Given the description of an element on the screen output the (x, y) to click on. 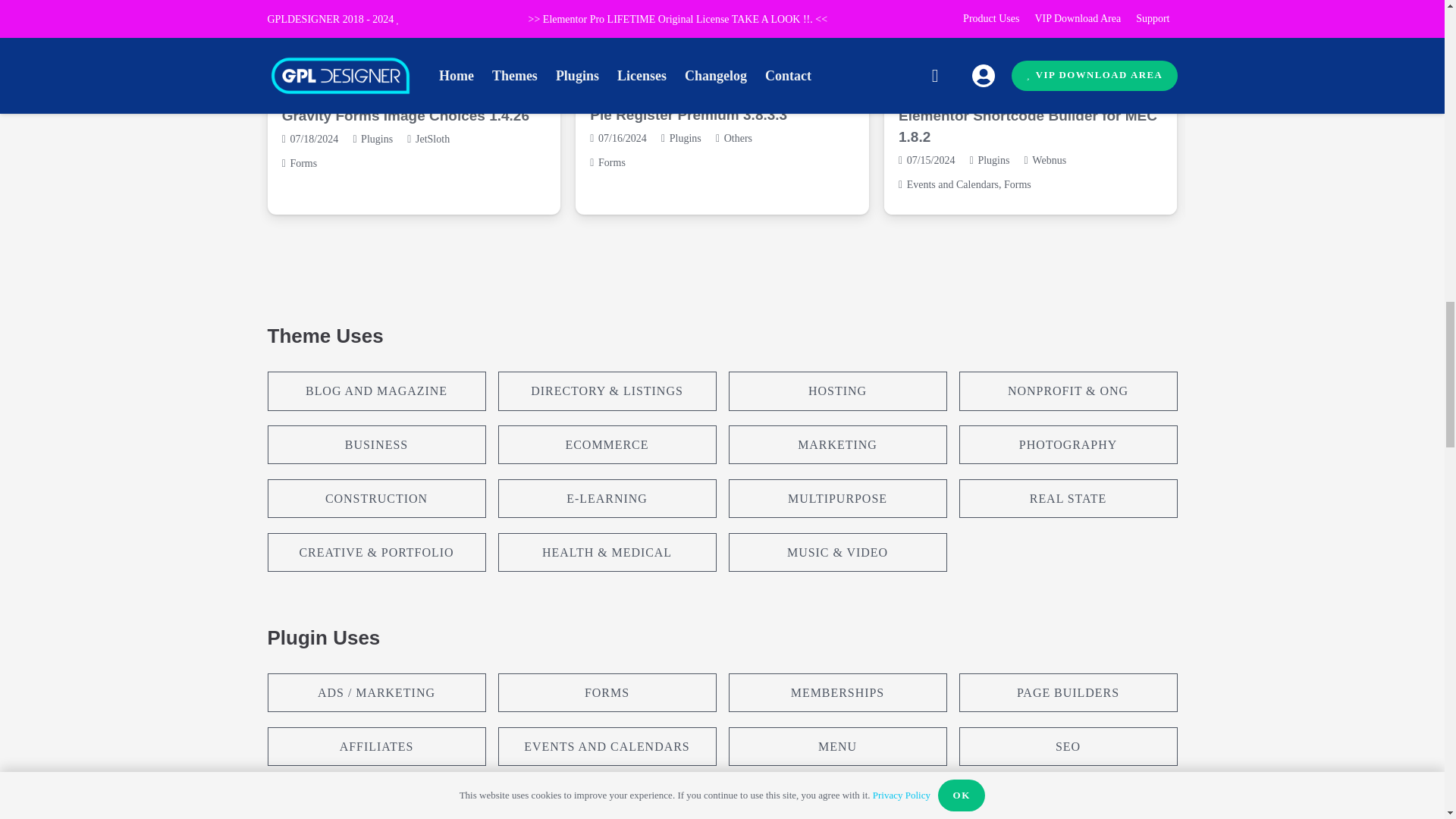
Plugins (377, 138)
JetSloth (431, 138)
Forms (612, 162)
Others (737, 138)
Gravity Forms Image Choices 1.4.26 (405, 115)
Pie Register Premium 3.8.3.3 (688, 114)
Forms (303, 163)
Plugins (685, 138)
